Given the description of an element on the screen output the (x, y) to click on. 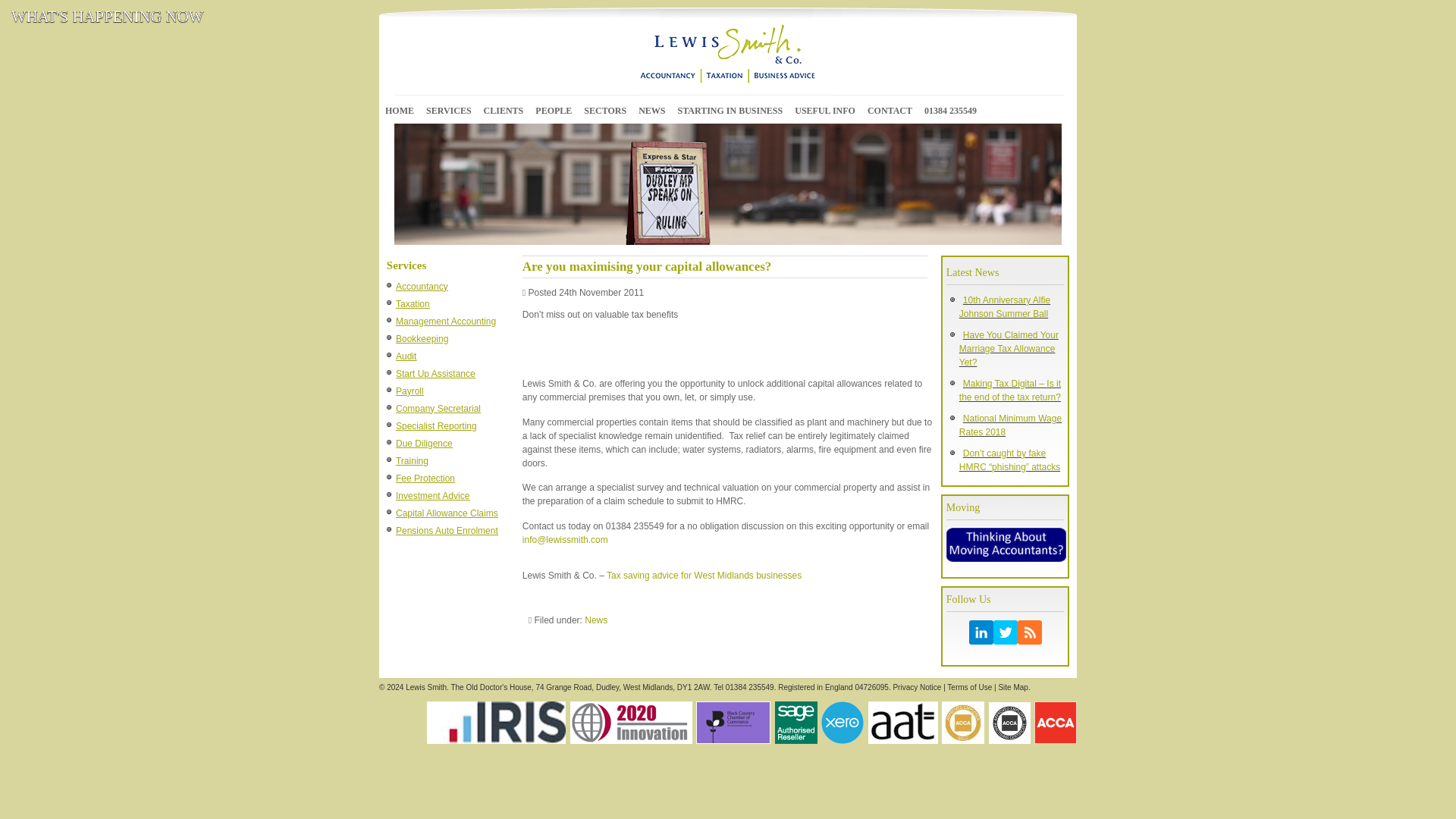
ACCA Approved Employer (1009, 722)
SECTORS (604, 110)
Company Secretarial (436, 410)
Members of the Association of Accounting Technicians (902, 722)
Payroll (408, 392)
STARTING IN BUSINESS (730, 110)
Bookkeeping (419, 340)
Start Up Assistance (433, 375)
Training (410, 462)
USEFUL INFO (825, 110)
